Given the description of an element on the screen output the (x, y) to click on. 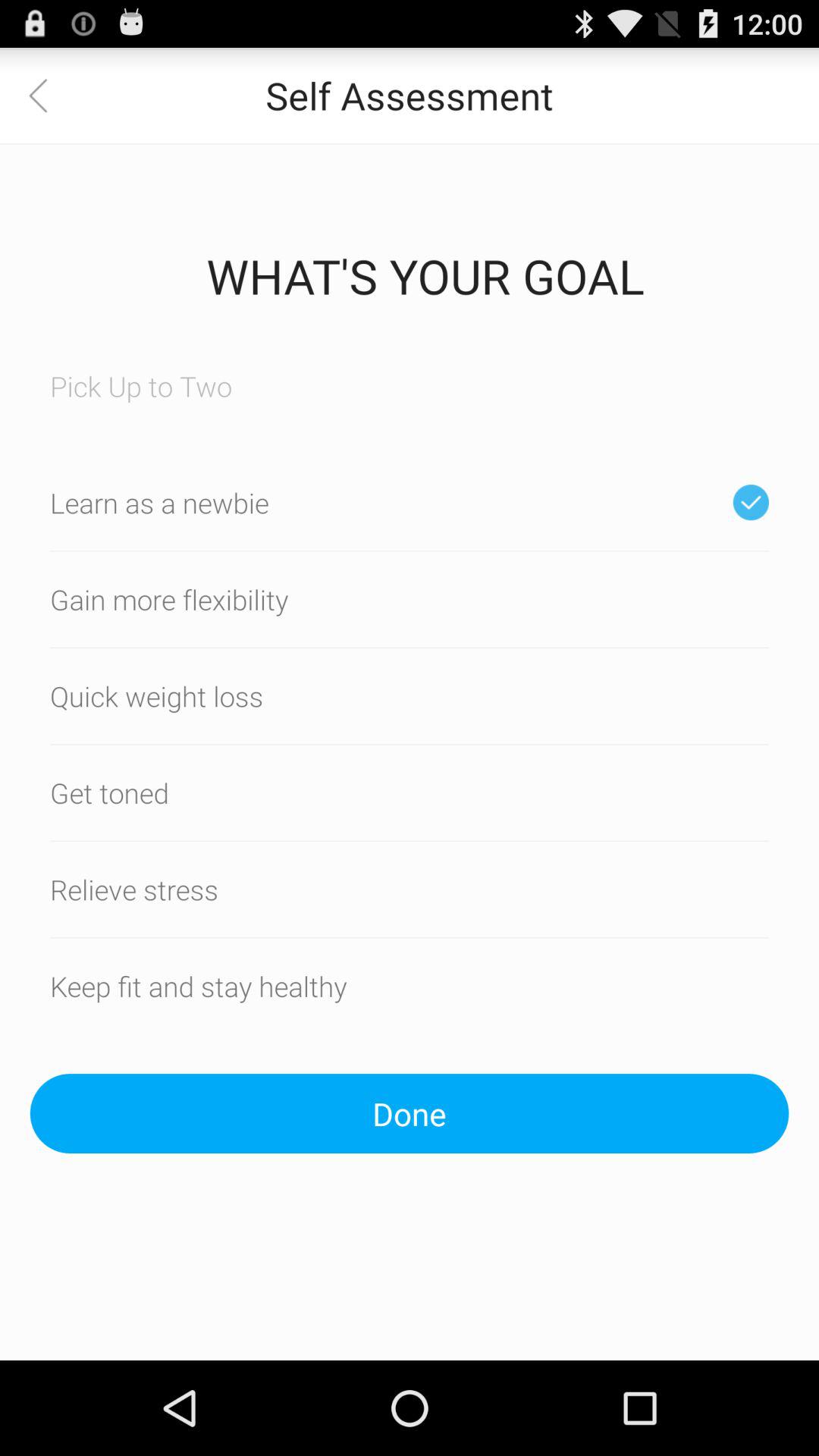
return to previous page (47, 95)
